Given the description of an element on the screen output the (x, y) to click on. 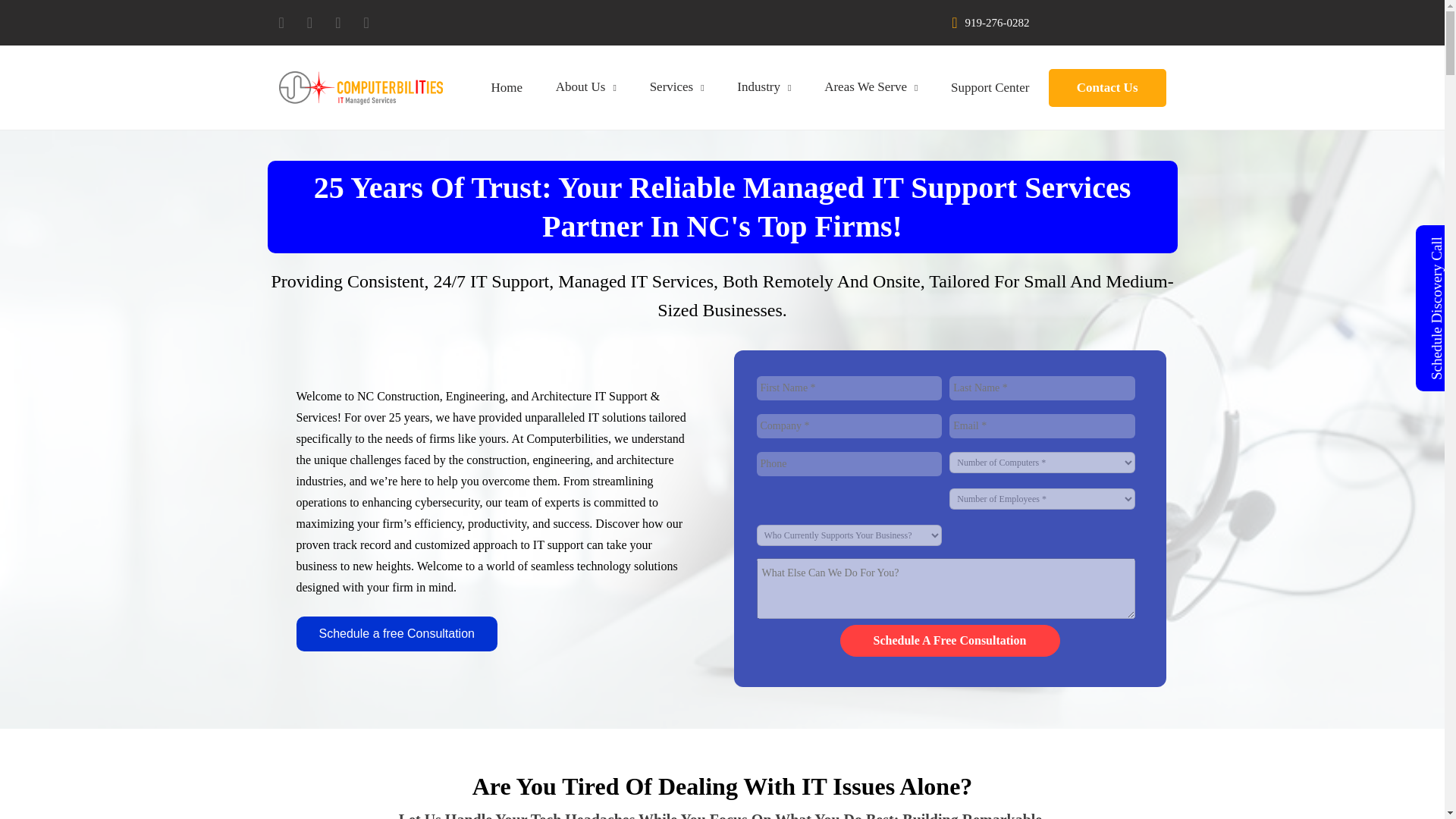
Computerbilities, Inc. (361, 86)
Services (676, 86)
Home (507, 87)
About Us (585, 86)
919-276-0282 (996, 22)
Home (507, 87)
Services (676, 86)
About Us (585, 86)
